Given the description of an element on the screen output the (x, y) to click on. 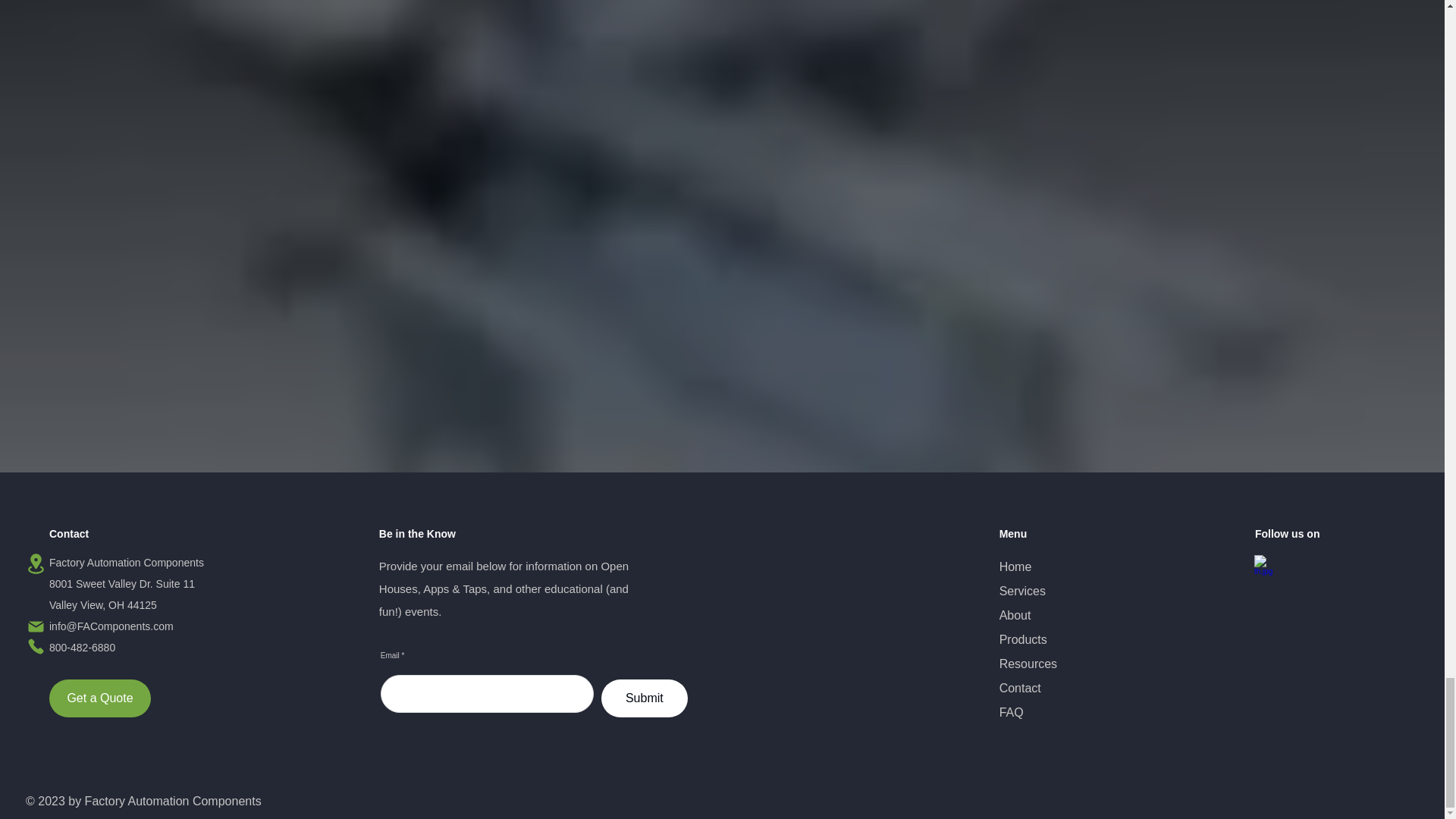
Home (1015, 566)
Contact (1019, 687)
Resources (1027, 663)
FAQ (1010, 712)
Submit (644, 698)
About (1014, 615)
Products (1022, 639)
Get a Quote (100, 698)
Services (1021, 590)
